Given the description of an element on the screen output the (x, y) to click on. 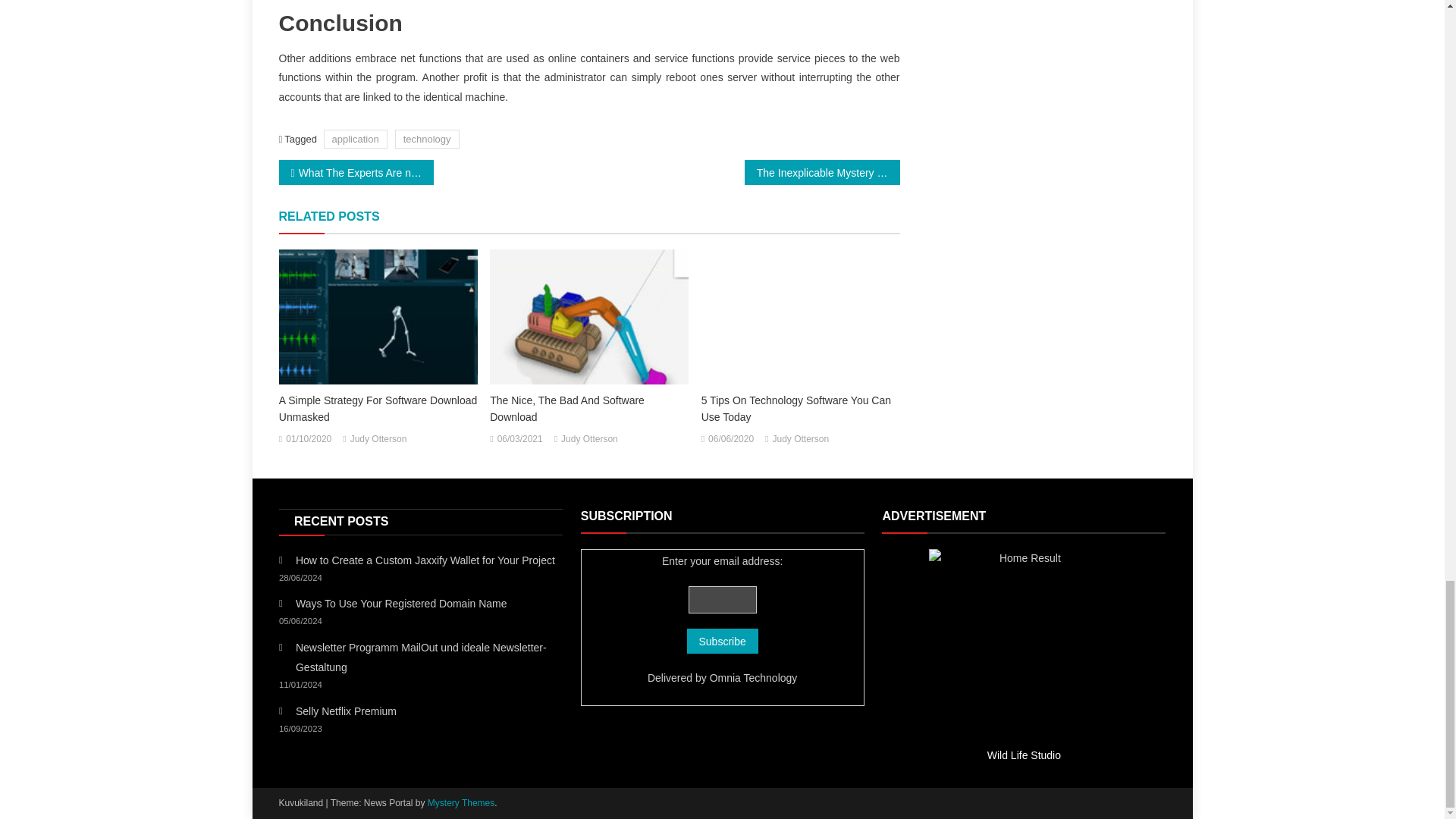
A Simple Strategy For Software Download Unmasked (378, 316)
The Inexplicable Mystery In to Modern Technology App Found (821, 172)
A Simple Strategy For Software Download Unmasked (378, 408)
Judy Otterson (378, 439)
technology (427, 138)
5 Tips on Technology Software You Can Use Today (800, 316)
The Nice, The Bad and Software Download (588, 316)
application (355, 138)
Judy Otterson (801, 439)
